Given the description of an element on the screen output the (x, y) to click on. 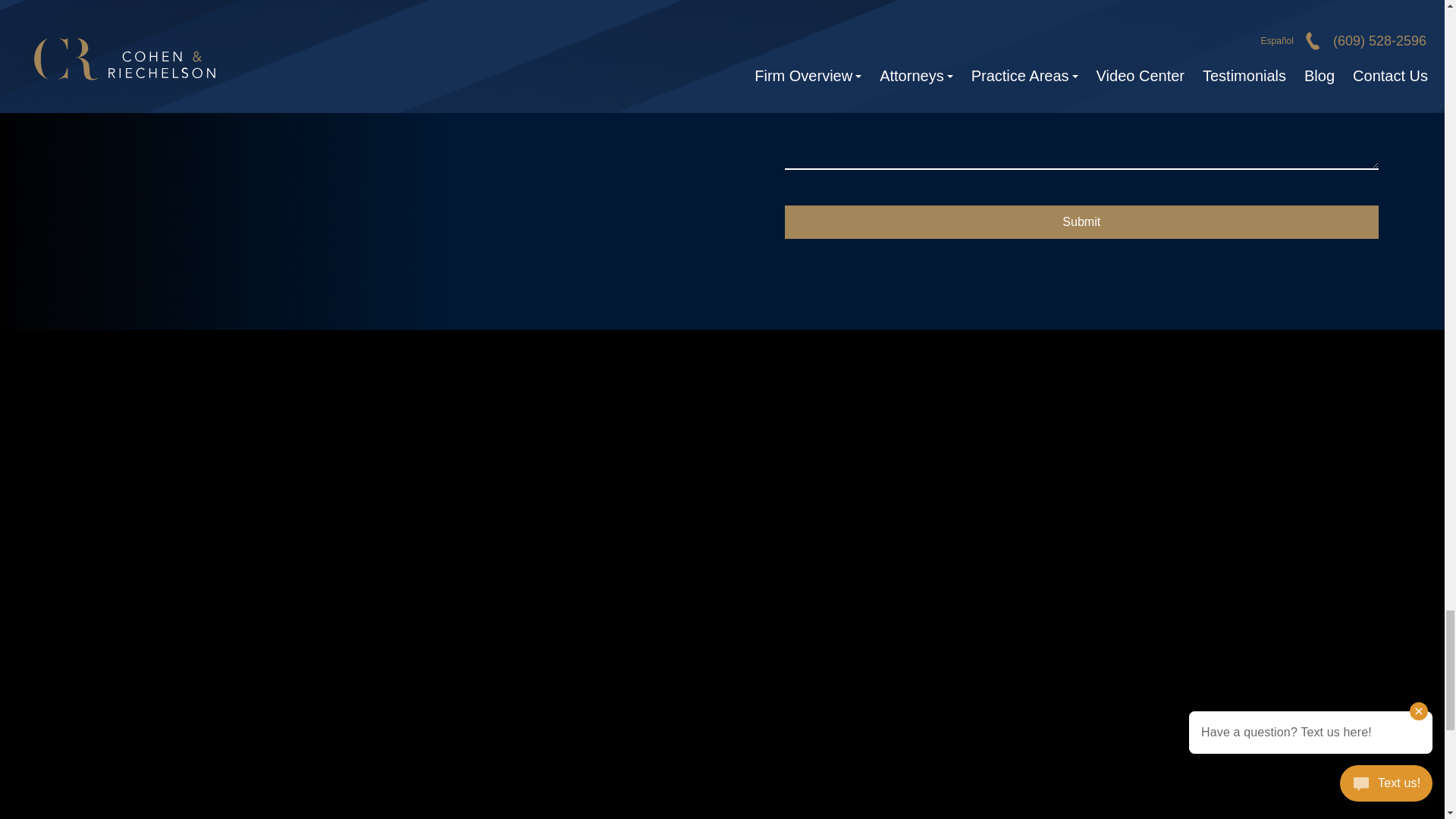
Submit (1081, 222)
